Given the description of an element on the screen output the (x, y) to click on. 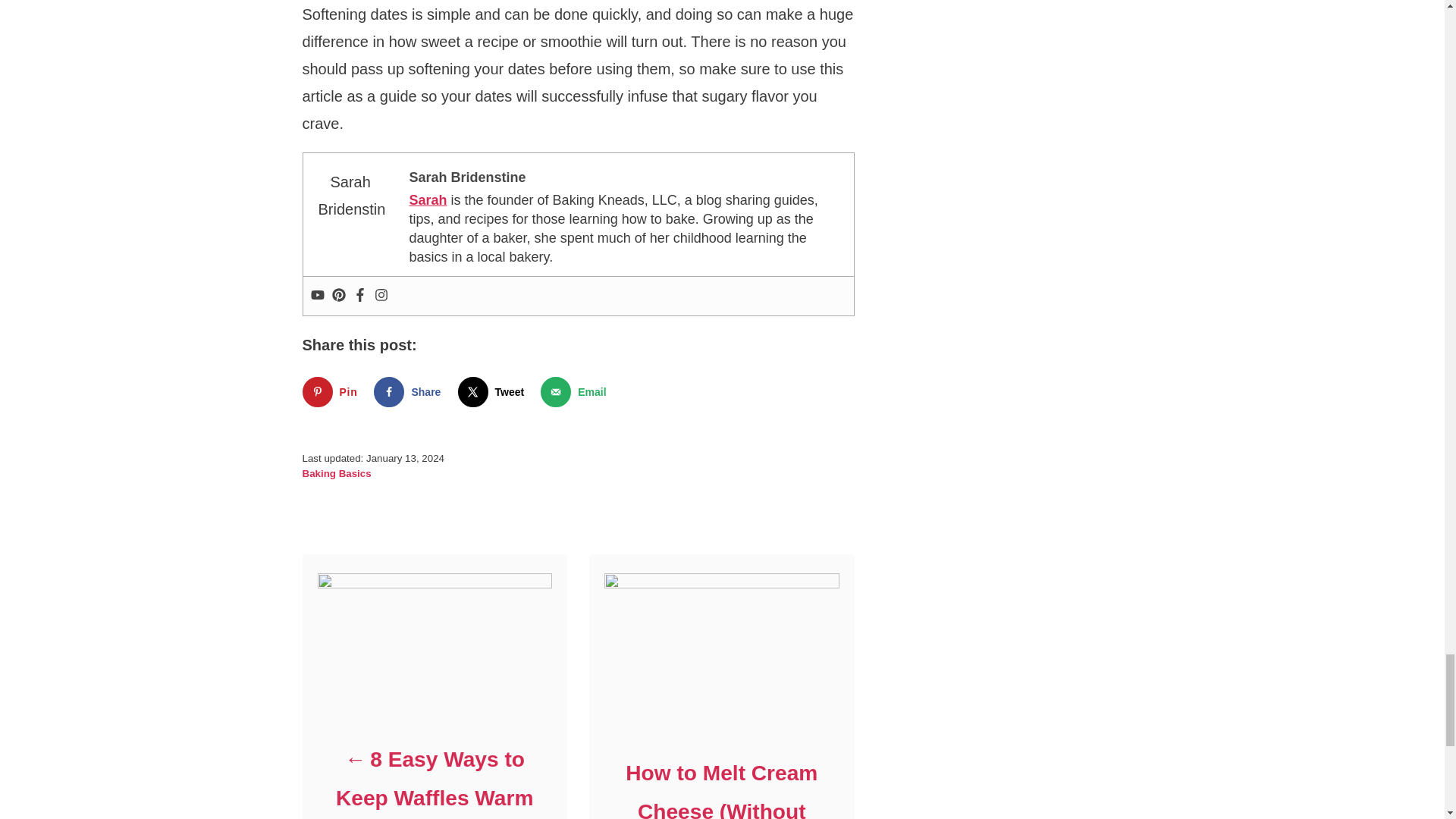
Sarah (427, 200)
Sarah Bridenstine (467, 177)
Save to Pinterest (332, 391)
